Given the description of an element on the screen output the (x, y) to click on. 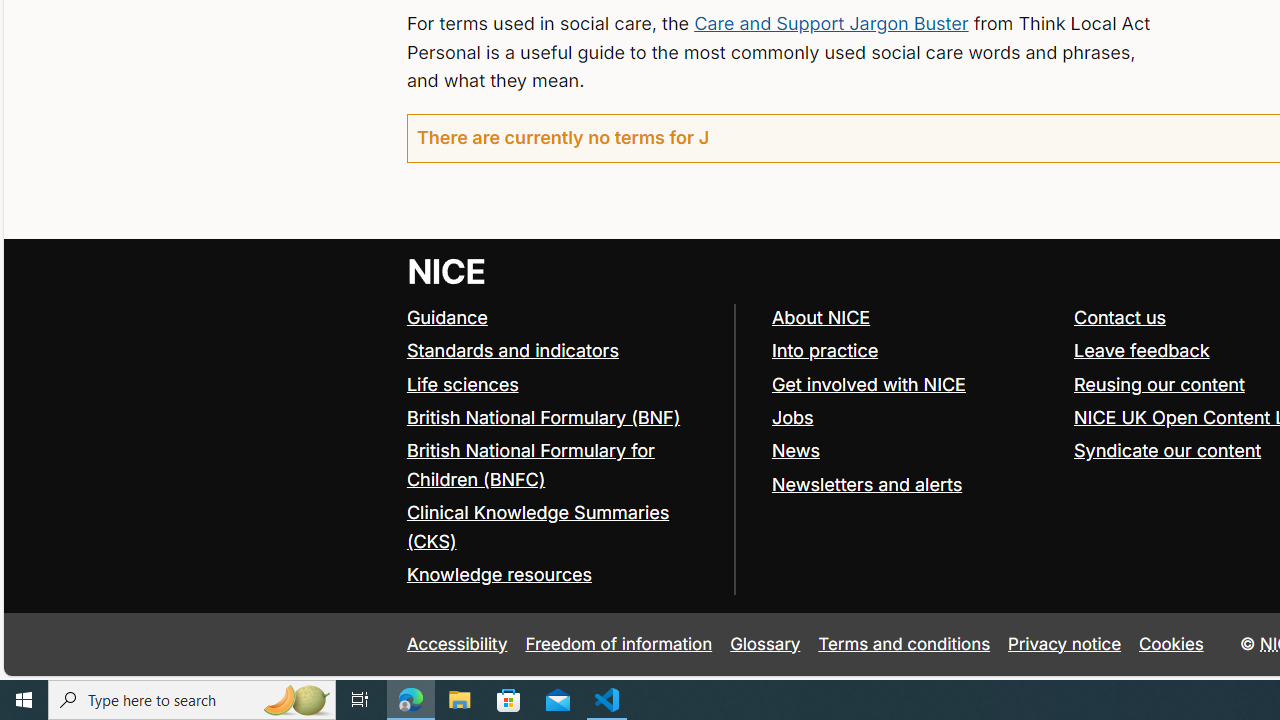
Glossary (765, 644)
Life sciences (560, 385)
Accessibility (456, 644)
Freedom of information (618, 644)
British National Formulary for Children (BNFC) (560, 466)
Reusing our content (1159, 383)
Guidance (560, 317)
Glossary (765, 644)
Terms and conditions (903, 644)
Go to NICE home page (445, 270)
Knowledge resources (498, 574)
Get involved with NICE (913, 385)
